Given the description of an element on the screen output the (x, y) to click on. 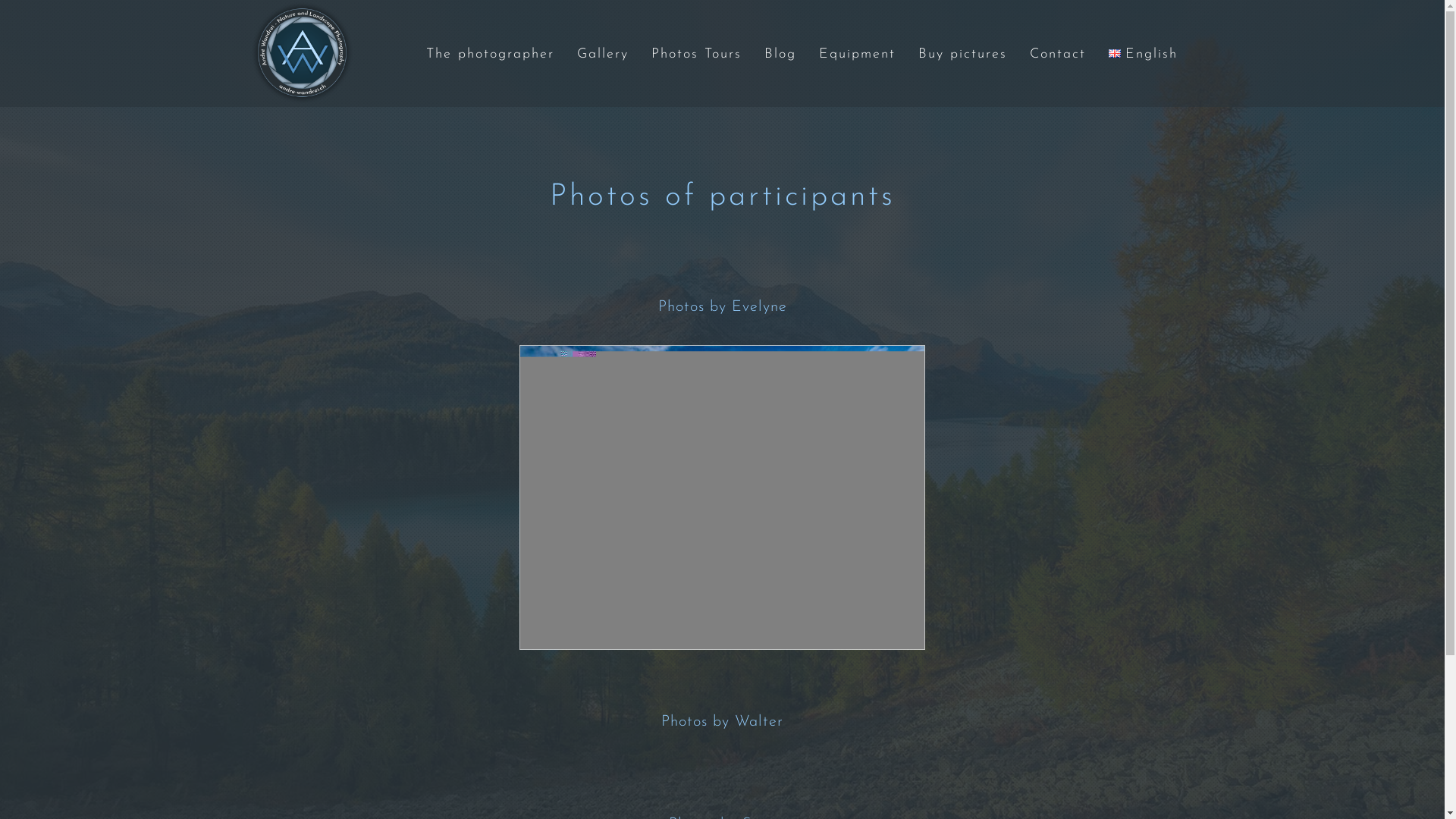
Photos Tours Element type: text (696, 54)
The photographer Element type: text (490, 54)
Contact Element type: text (1057, 54)
Blog Element type: text (780, 54)
Gallery Element type: text (602, 54)
English Element type: text (1142, 54)
Equipment Element type: text (857, 54)
Buy pictures Element type: text (962, 54)
